Given the description of an element on the screen output the (x, y) to click on. 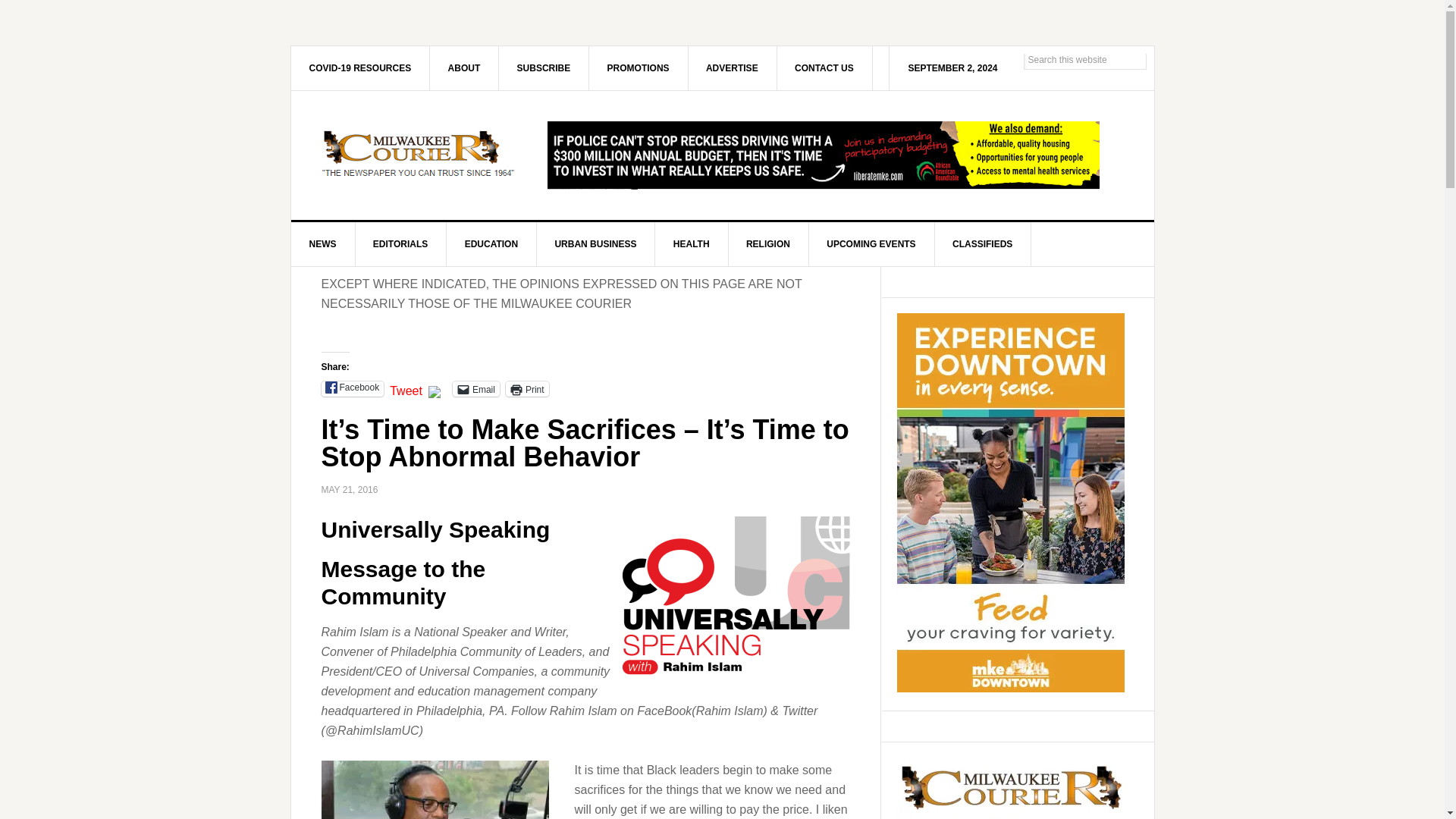
HEALTH (692, 243)
Facebook (352, 388)
ADVERTISE (732, 67)
NEWS (323, 243)
EDUCATION (491, 243)
PROMOTIONS (638, 67)
SUBSCRIBE (544, 67)
CLASSIFIEDS (982, 243)
RELIGION (768, 243)
Search this website (1085, 59)
